Given the description of an element on the screen output the (x, y) to click on. 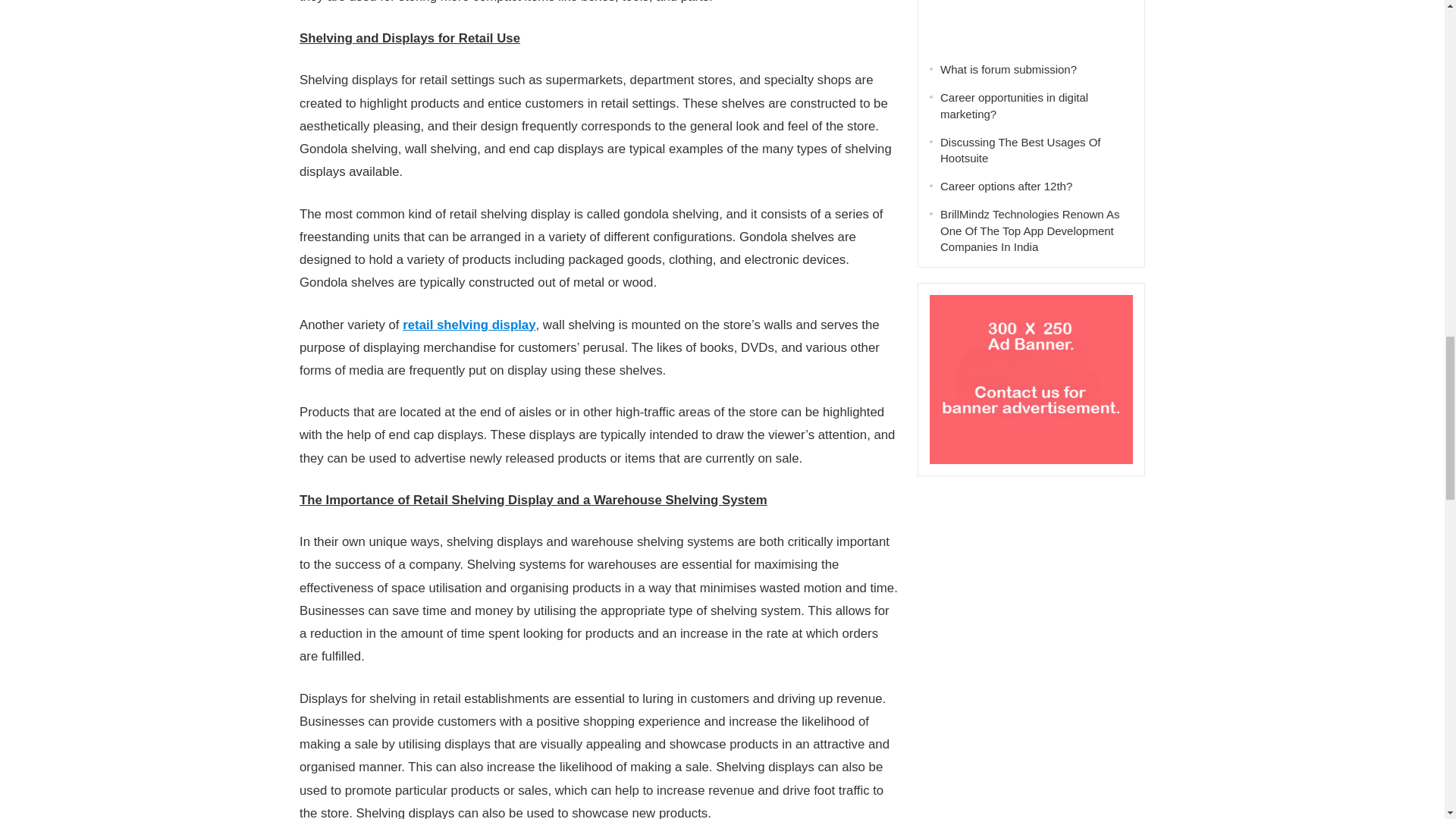
retail shelving display (469, 324)
